Given the description of an element on the screen output the (x, y) to click on. 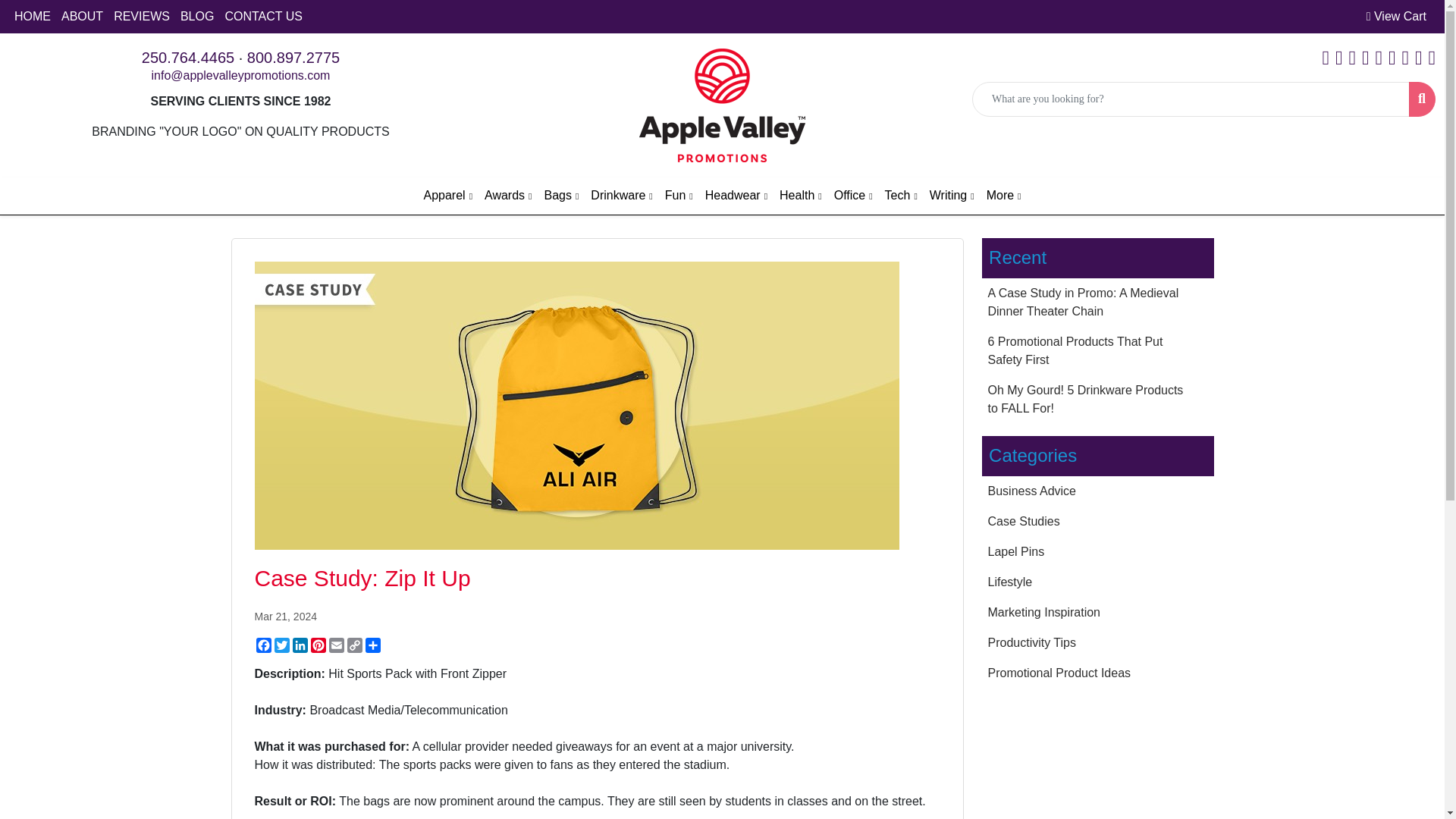
800.897.2775 (293, 57)
HOME (32, 16)
REVIEWS (140, 16)
250.764.4465 (187, 57)
ABOUT (81, 16)
CONTACT US (263, 16)
View Cart (1396, 16)
BLOG (196, 16)
